Given the description of an element on the screen output the (x, y) to click on. 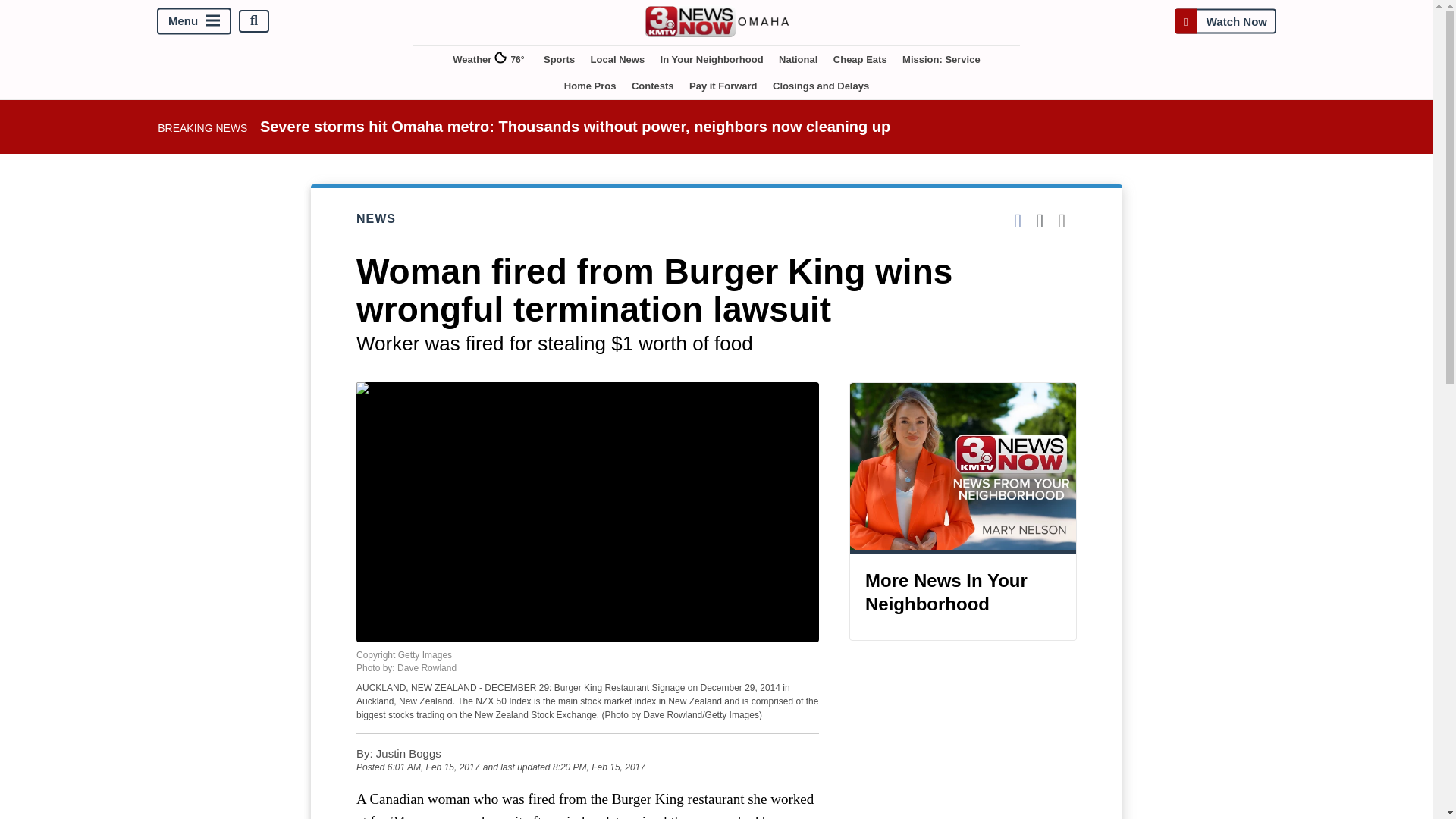
Watch Now (1224, 20)
Menu (194, 20)
